Given the description of an element on the screen output the (x, y) to click on. 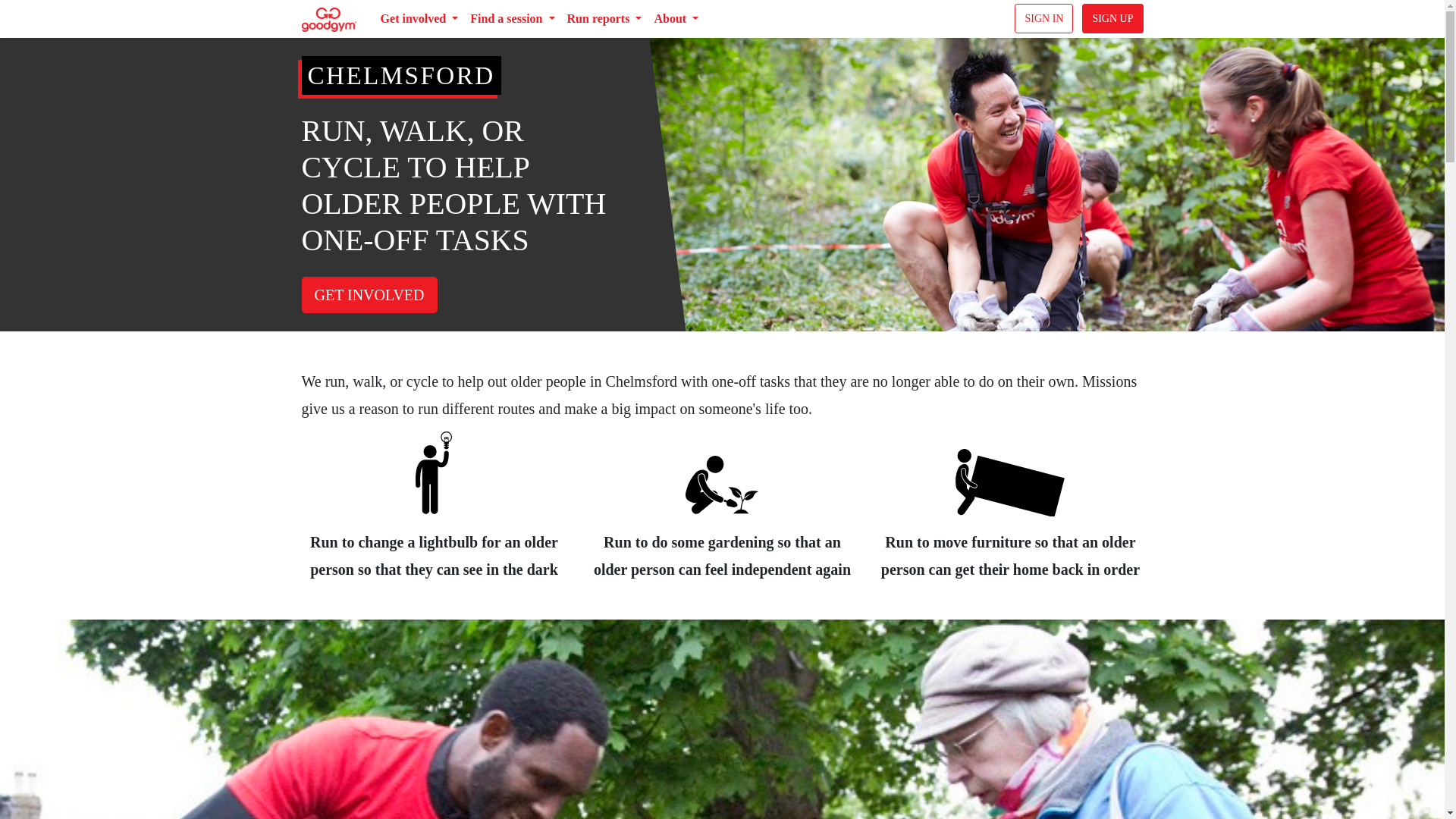
GET INVOLVED (369, 294)
Run reports (603, 19)
CHELMSFORD (401, 75)
About (675, 19)
SIGN UP (1111, 18)
SIGN IN (1043, 18)
Find a session (512, 19)
Get involved (419, 19)
